Given the description of an element on the screen output the (x, y) to click on. 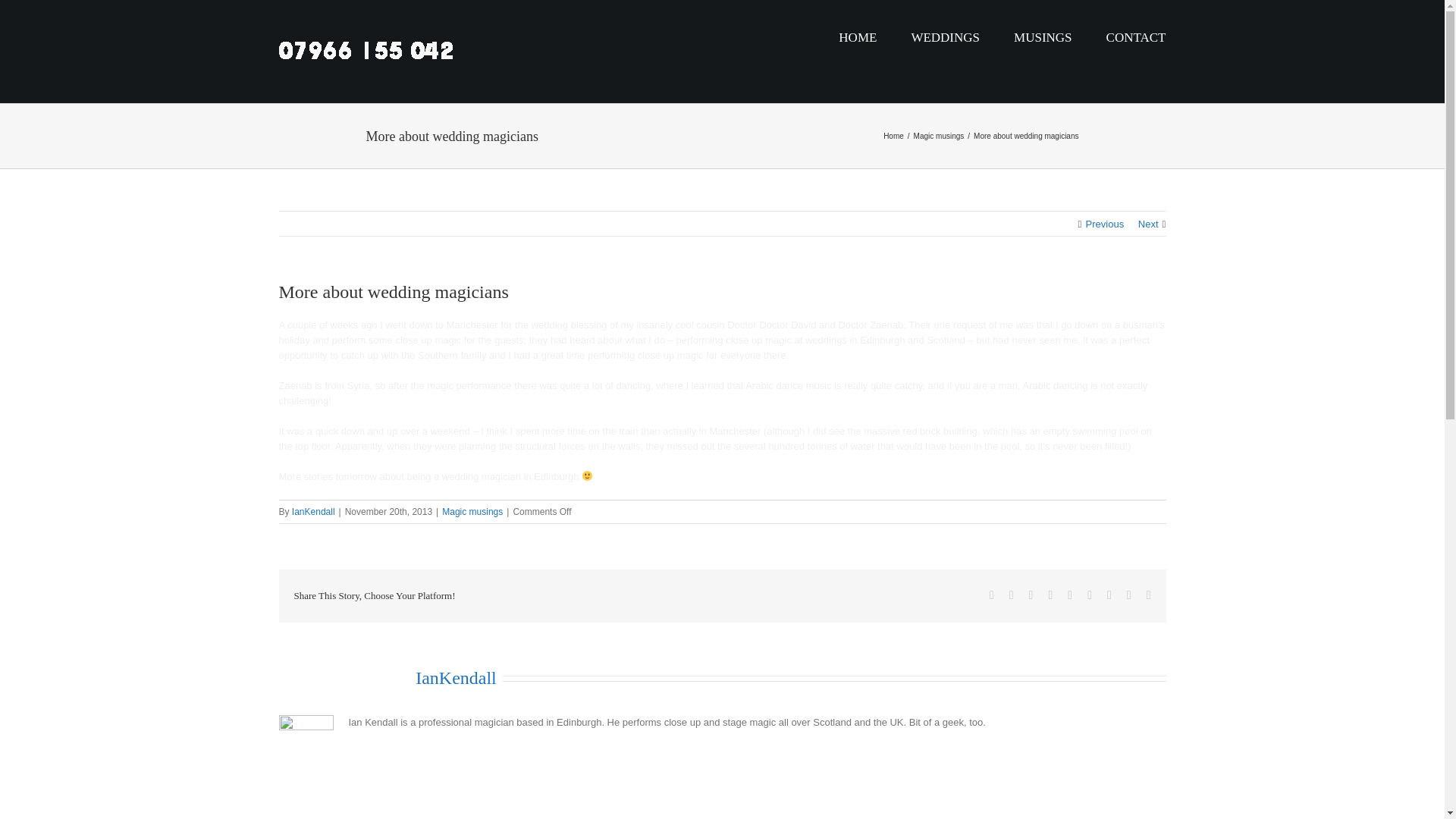
WEDDINGS (945, 38)
IanKendall (313, 511)
IanKendall (455, 677)
Magic musings (938, 135)
Previous (1105, 224)
Posts by IanKendall (455, 677)
Magic musings (472, 511)
Home (893, 135)
Posts by IanKendall (313, 511)
